Given the description of an element on the screen output the (x, y) to click on. 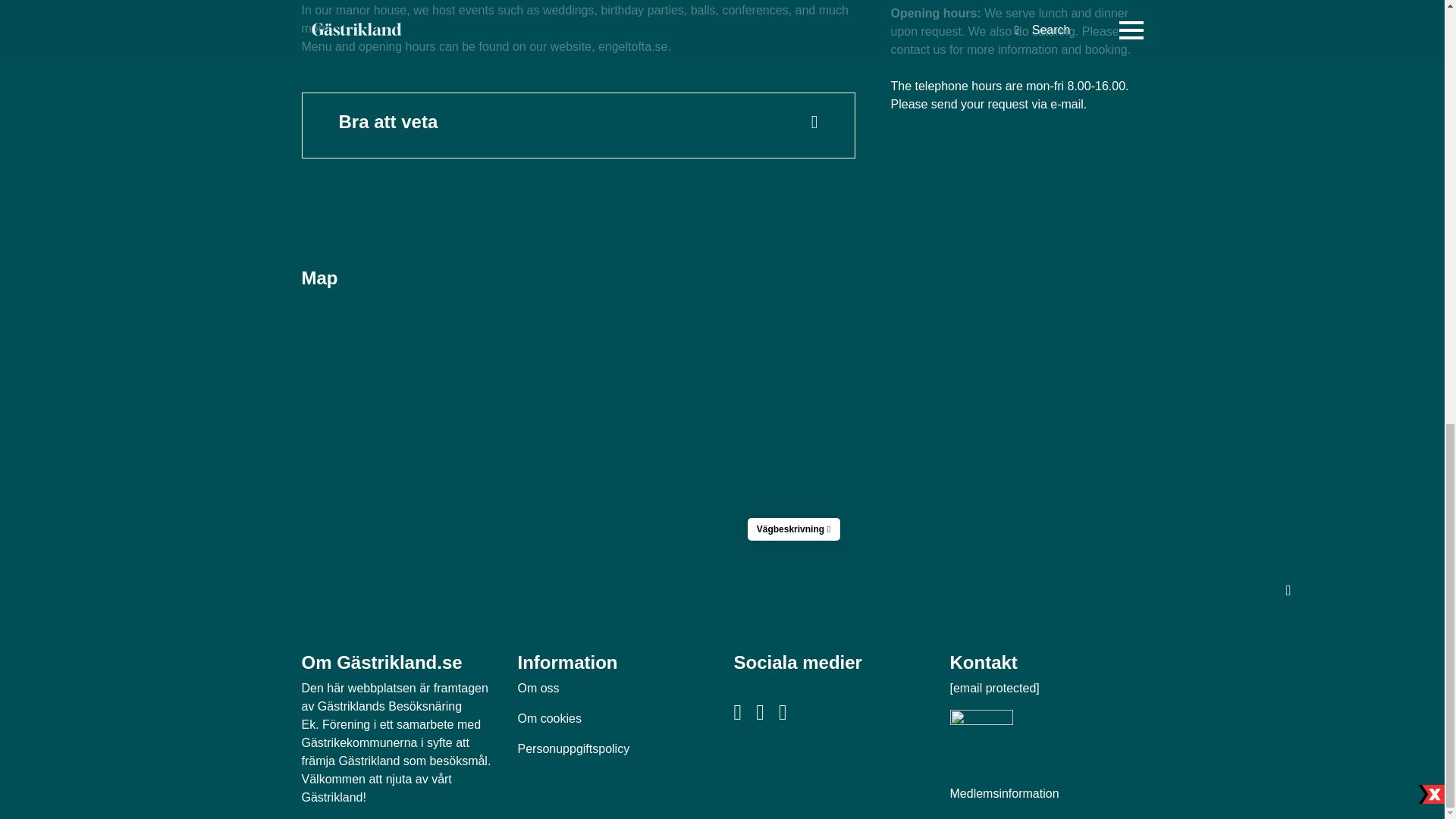
Personuppgiftspolicy (572, 748)
Om cookies (548, 717)
Om oss (537, 687)
Medlemsinformation (1003, 793)
